Given the description of an element on the screen output the (x, y) to click on. 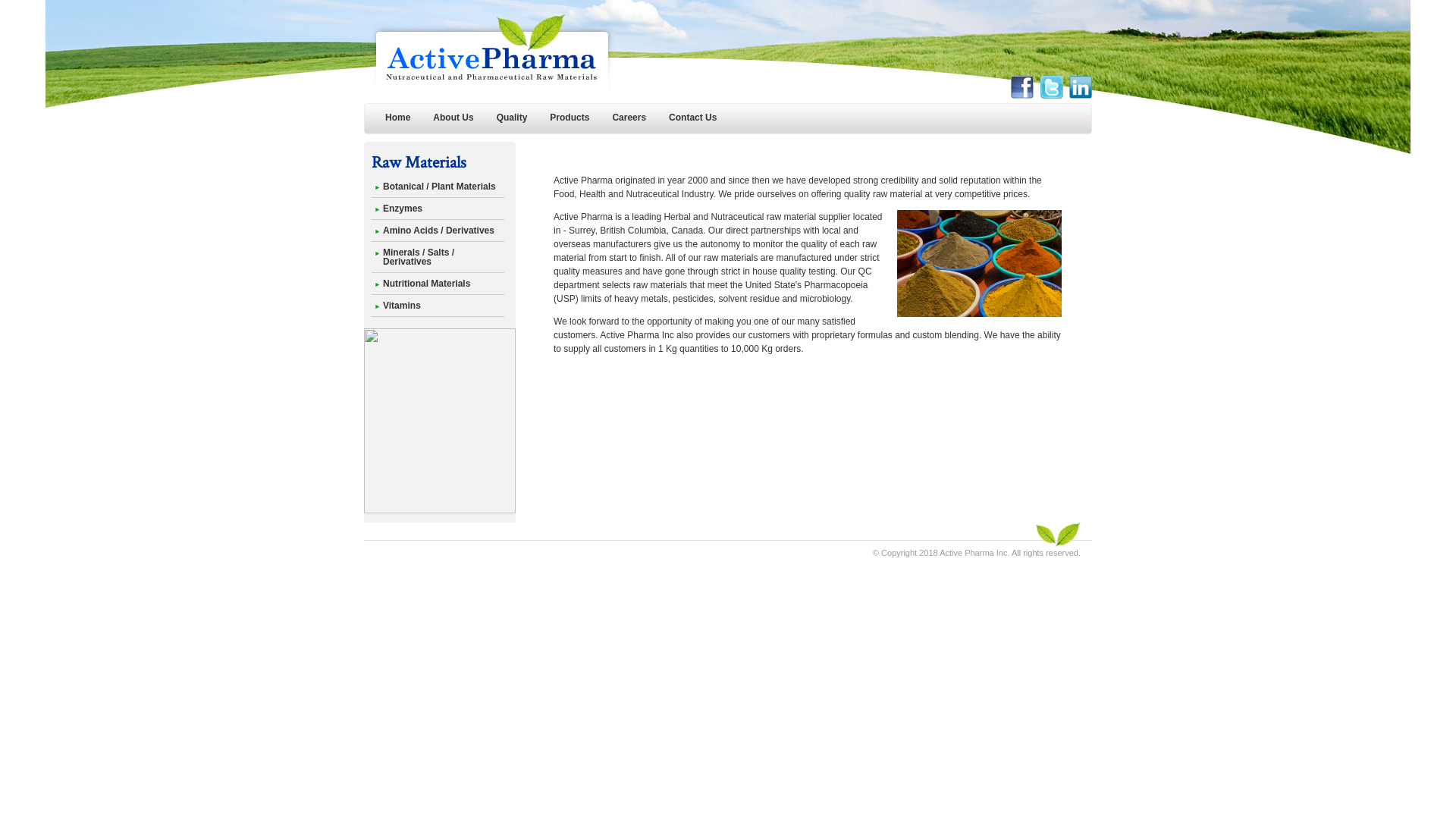
Products Element type: text (569, 117)
Botanical / Plant Materials Element type: text (438, 186)
Amino Acids / Derivatives Element type: text (438, 230)
Contact Us Element type: text (692, 117)
Home Element type: text (397, 117)
Careers Element type: text (628, 117)
Enzymes Element type: text (402, 208)
Vitamins Element type: text (401, 305)
About Us Element type: text (453, 117)
Quality Element type: text (511, 117)
Minerals / Salts / Derivatives Element type: text (418, 256)
Nutritional Materials Element type: text (426, 283)
